Given the description of an element on the screen output the (x, y) to click on. 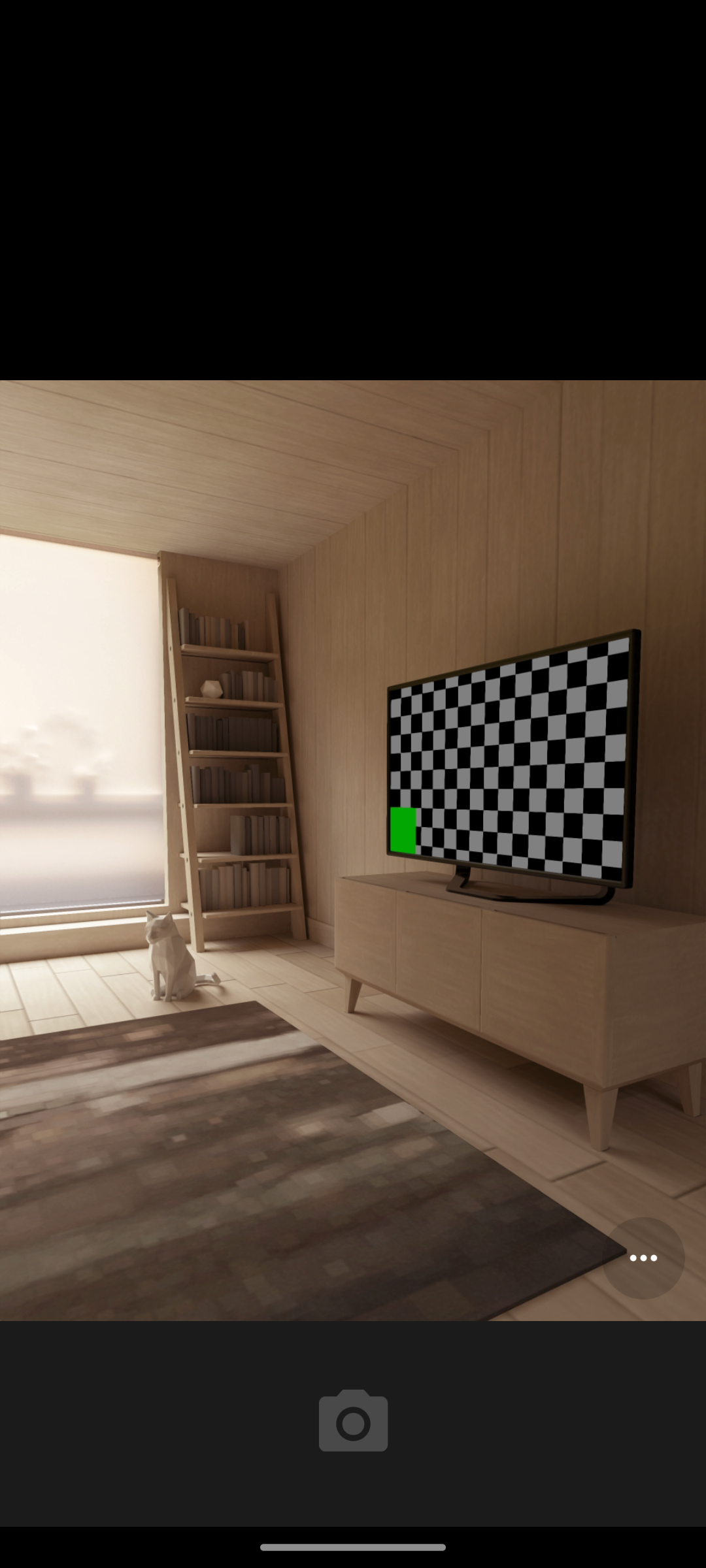
Options (643, 1257)
Shutter (353, 1423)
